Given the description of an element on the screen output the (x, y) to click on. 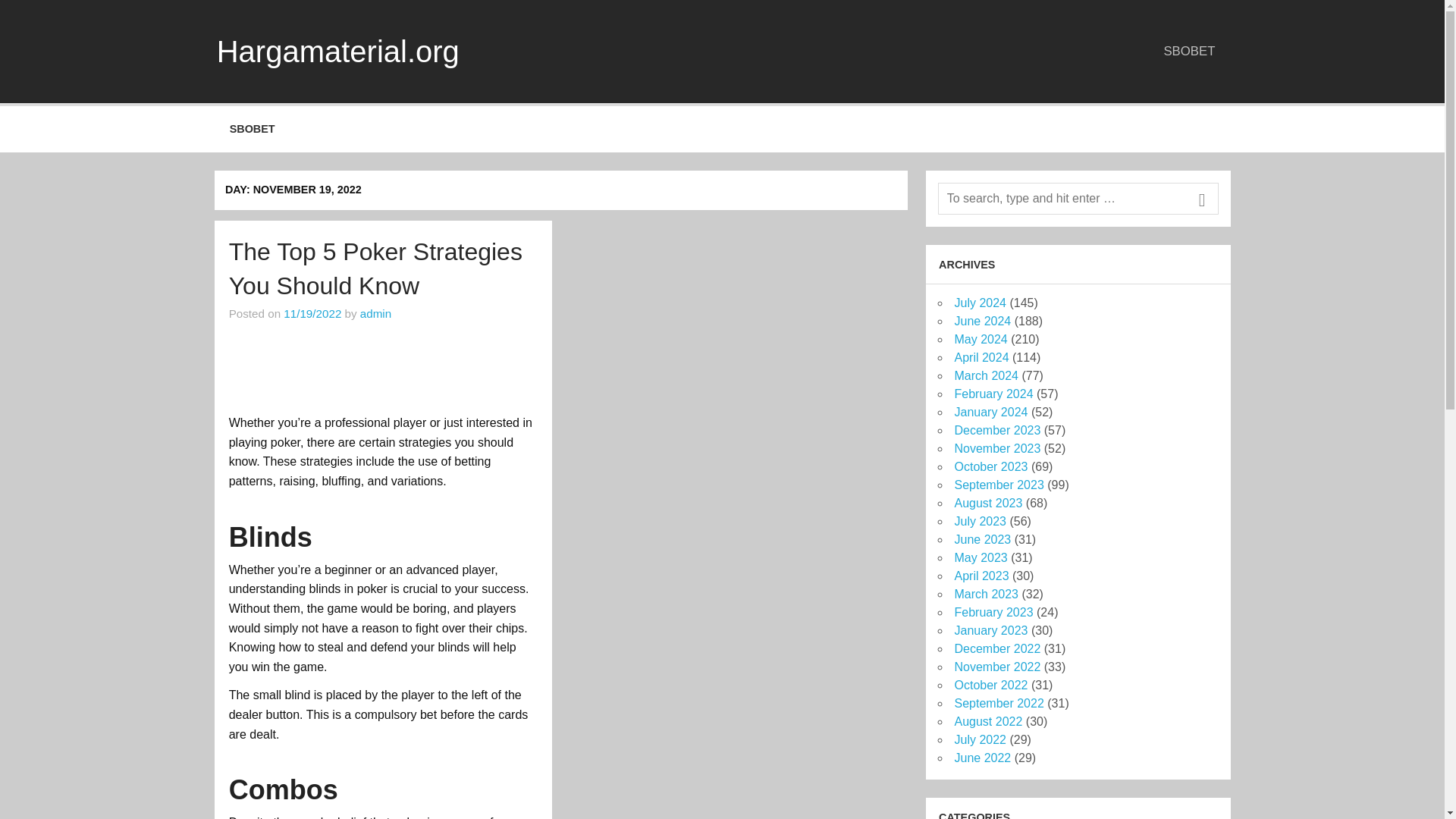
January 2023 (990, 630)
November 2022 (997, 666)
March 2024 (985, 375)
July 2022 (979, 739)
February 2024 (992, 393)
July 2023 (979, 521)
admin (375, 313)
June 2022 (981, 757)
November 2023 (997, 448)
December 2023 (997, 430)
April 2024 (981, 357)
July 2024 (979, 302)
September 2023 (998, 484)
View all posts by admin (375, 313)
December 2022 (997, 648)
